Given the description of an element on the screen output the (x, y) to click on. 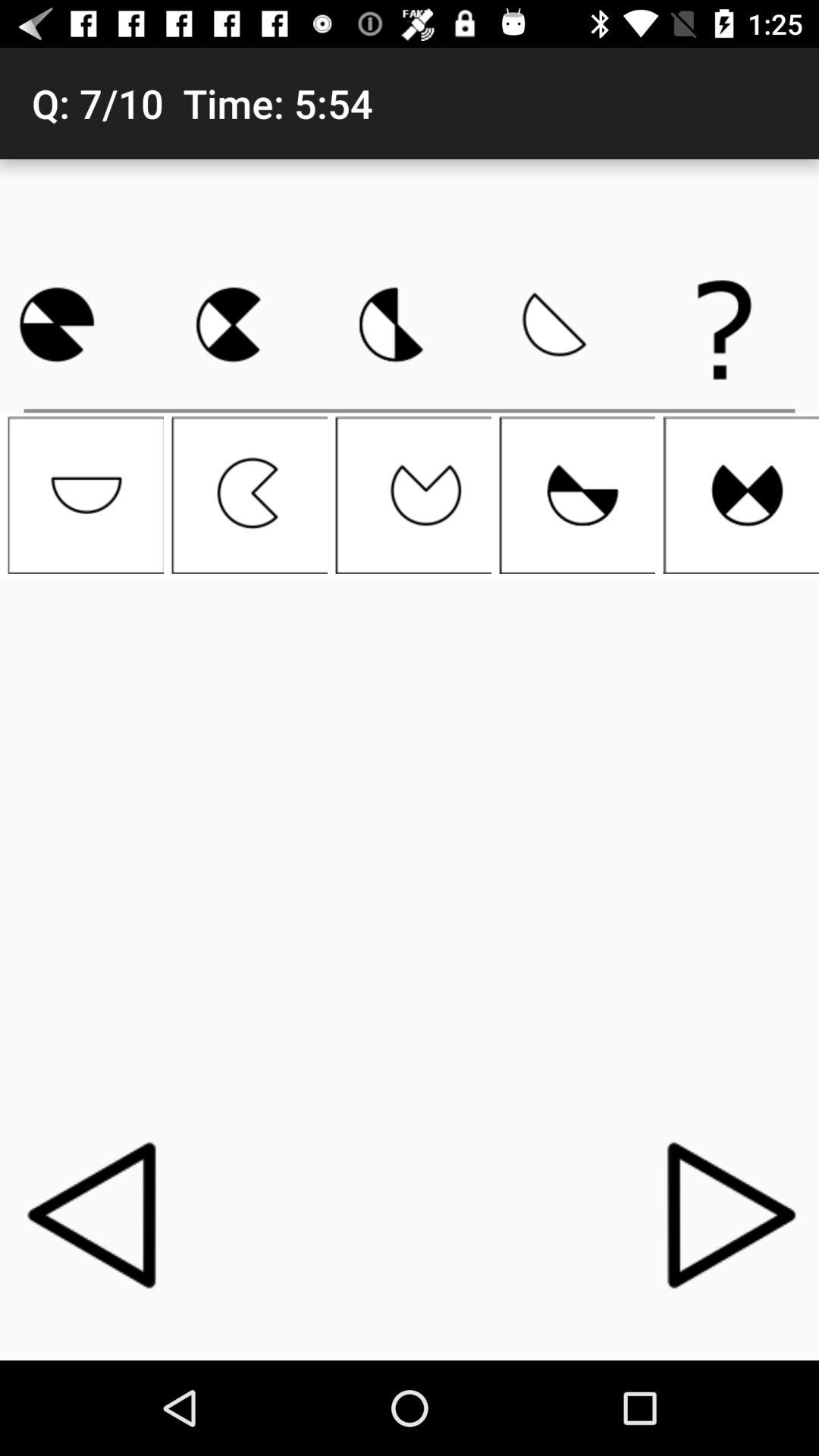
choose the icon at the bottom right corner (723, 1213)
